Given the description of an element on the screen output the (x, y) to click on. 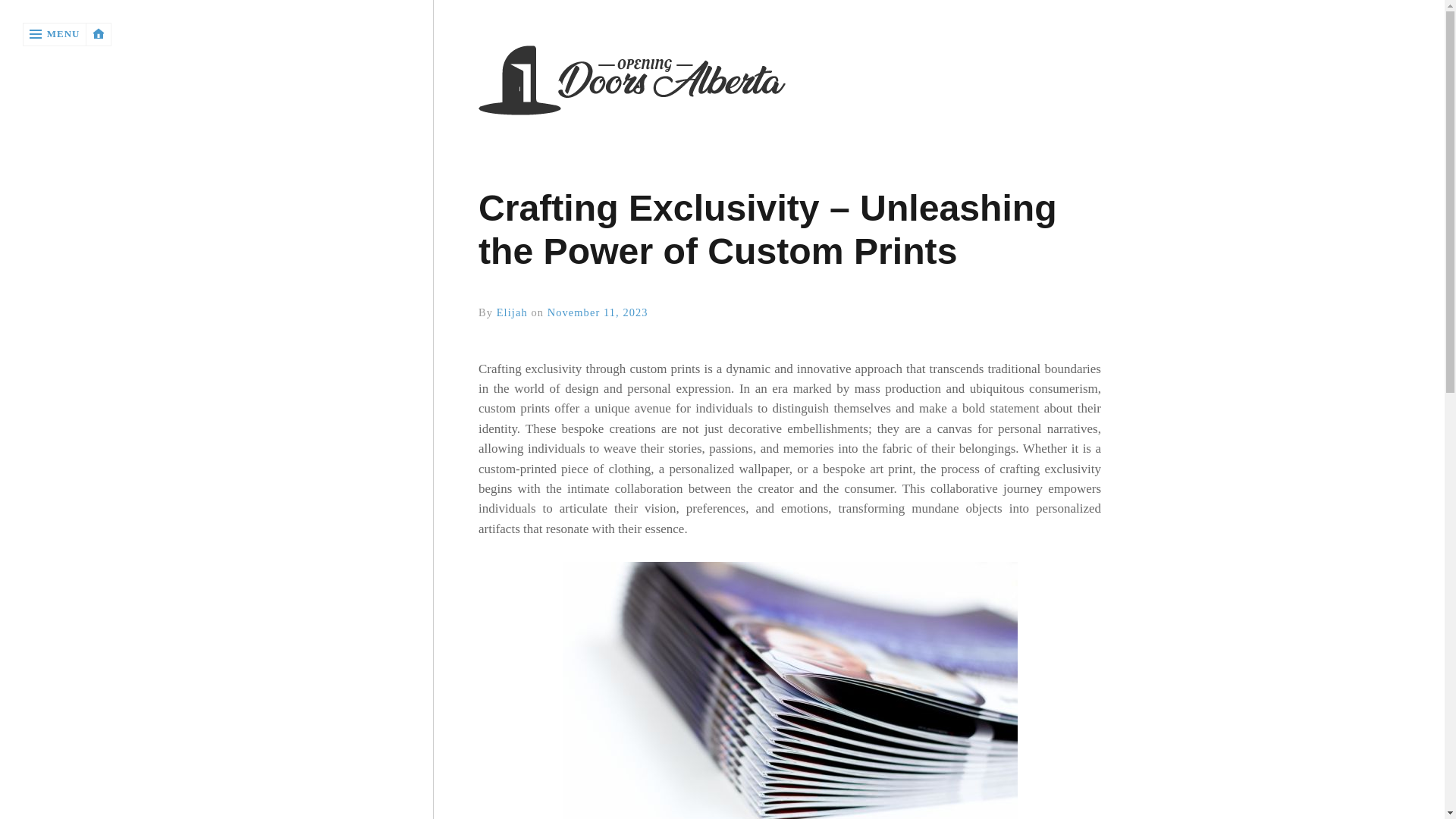
MENU (55, 33)
Home (789, 82)
November 11, 2023 (597, 312)
7:53 am (597, 312)
Elijah (511, 312)
View all posts by Elijah (511, 312)
